Given the description of an element on the screen output the (x, y) to click on. 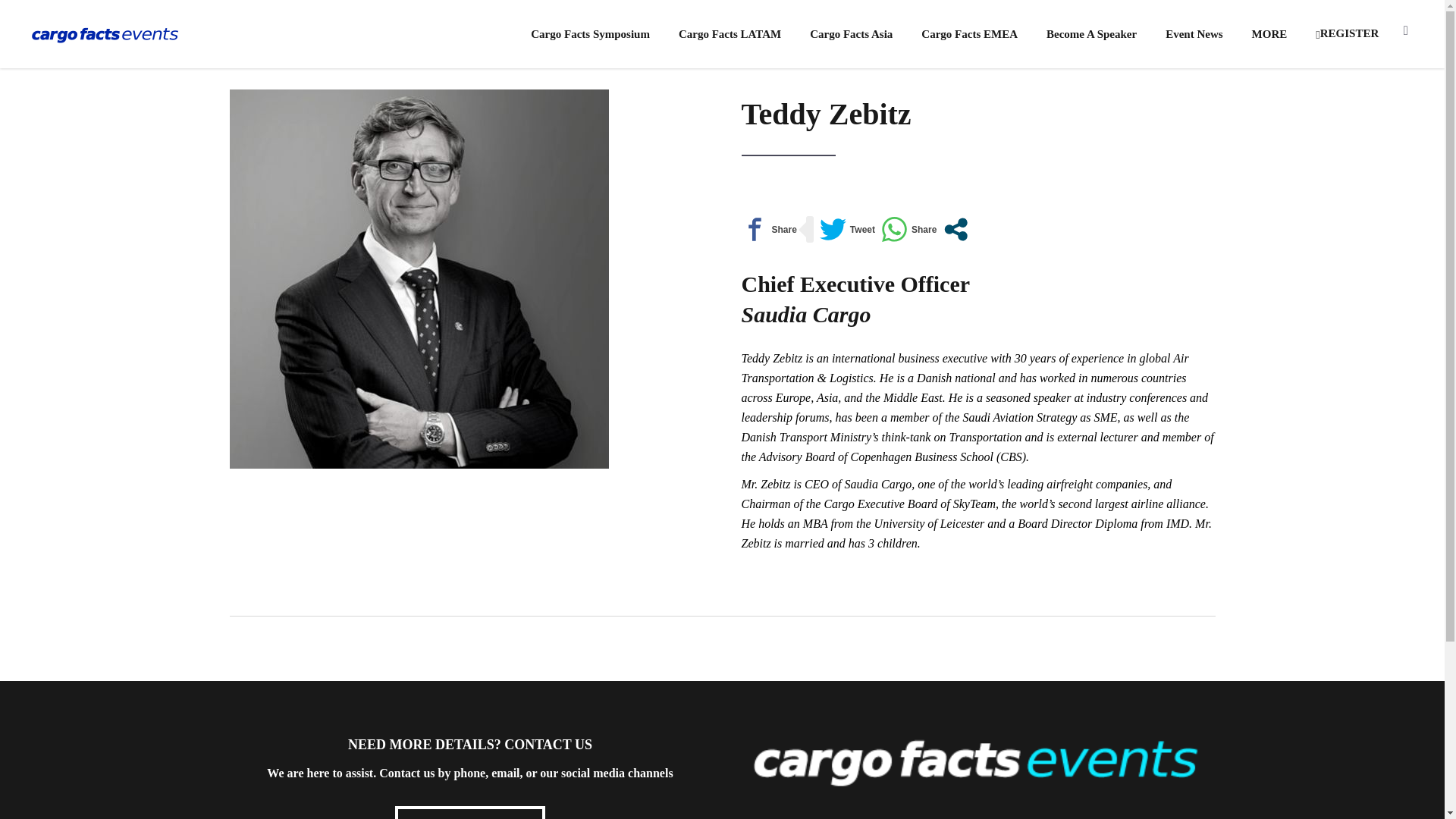
MORE (1269, 33)
Cargo Facts Asia (850, 33)
Cargo Facts LATAM (728, 33)
Share on Facebook (768, 229)
Cargo Facts EMEA (969, 33)
Tweet (847, 229)
Open modal social networks (955, 229)
REGISTER (1347, 33)
Become A Speaker (1091, 33)
Event News (1193, 33)
